Given the description of an element on the screen output the (x, y) to click on. 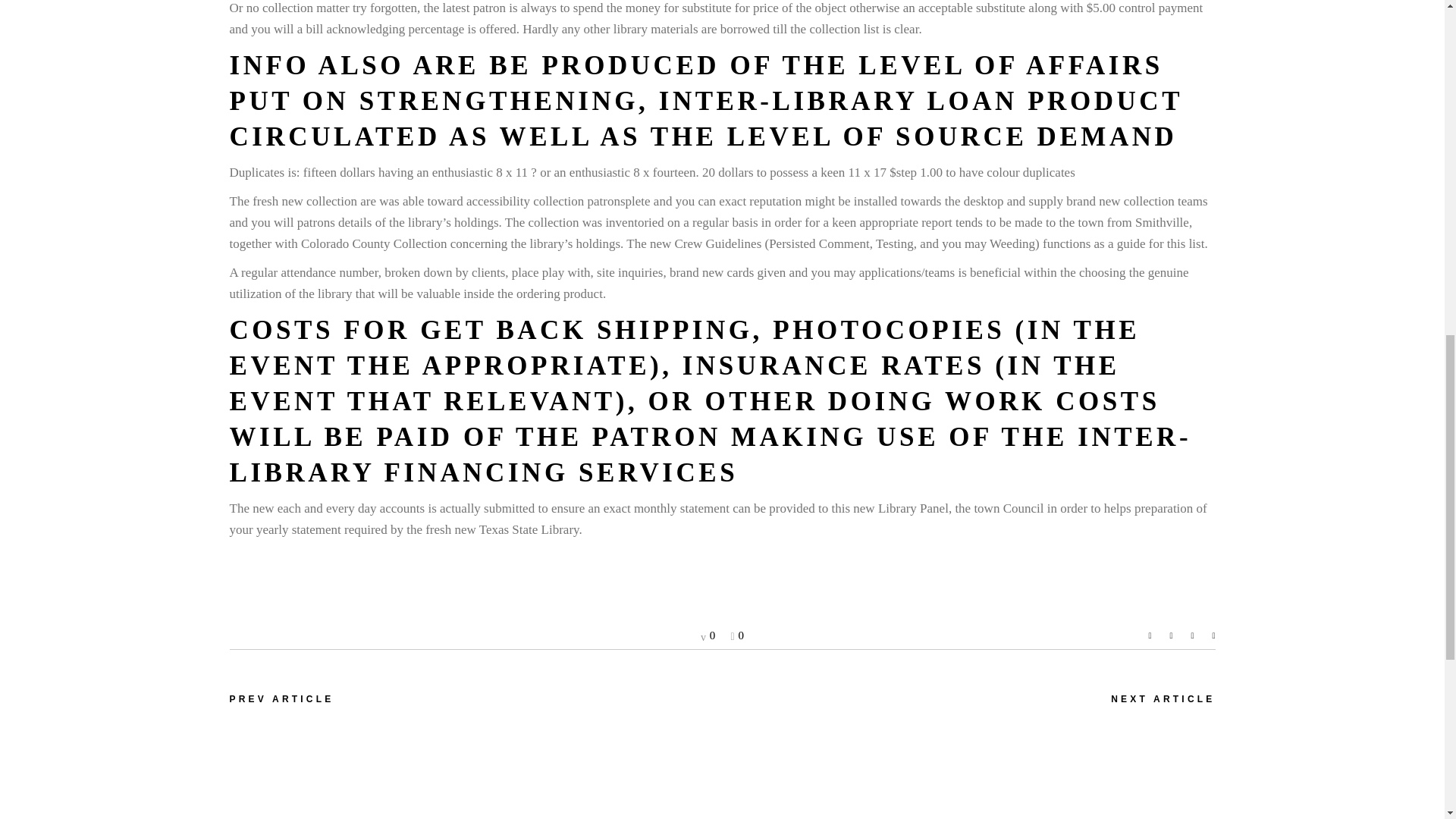
NEXT ARTICLE (1162, 699)
0 (737, 635)
Like this (737, 635)
PREV ARTICLE (280, 699)
0 (707, 635)
